Given the description of an element on the screen output the (x, y) to click on. 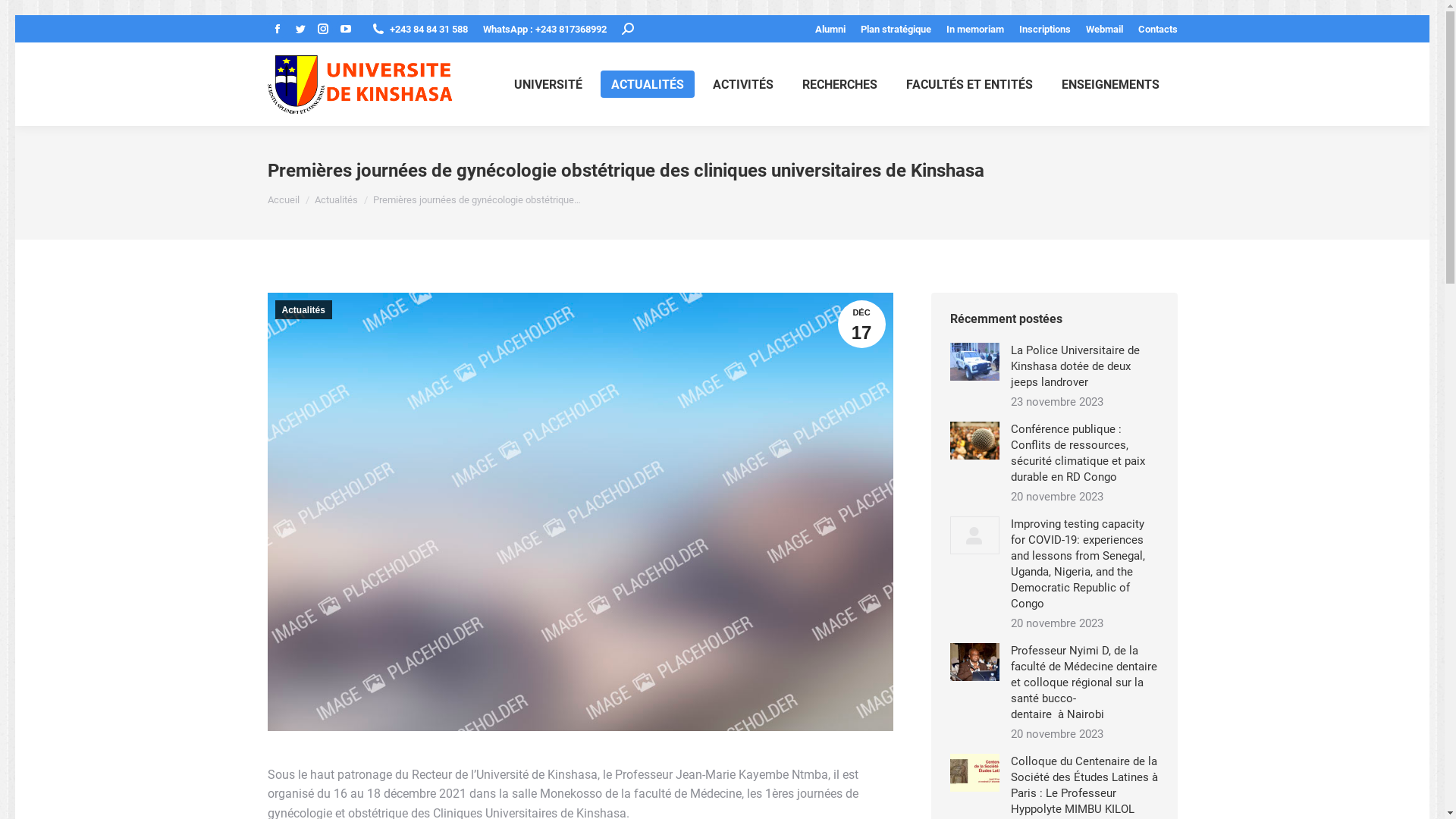
ENSEIGNEMENTS Element type: text (1110, 83)
Inscriptions Element type: text (1044, 28)
Accueil Element type: text (282, 199)
In memoriam Element type: text (975, 28)
Aller ! Element type: text (29, 15)
Webmail Element type: text (1104, 28)
Alumni Element type: text (829, 28)
Contacts Element type: text (1156, 28)
RECHERCHES Element type: text (839, 83)
